Given the description of an element on the screen output the (x, y) to click on. 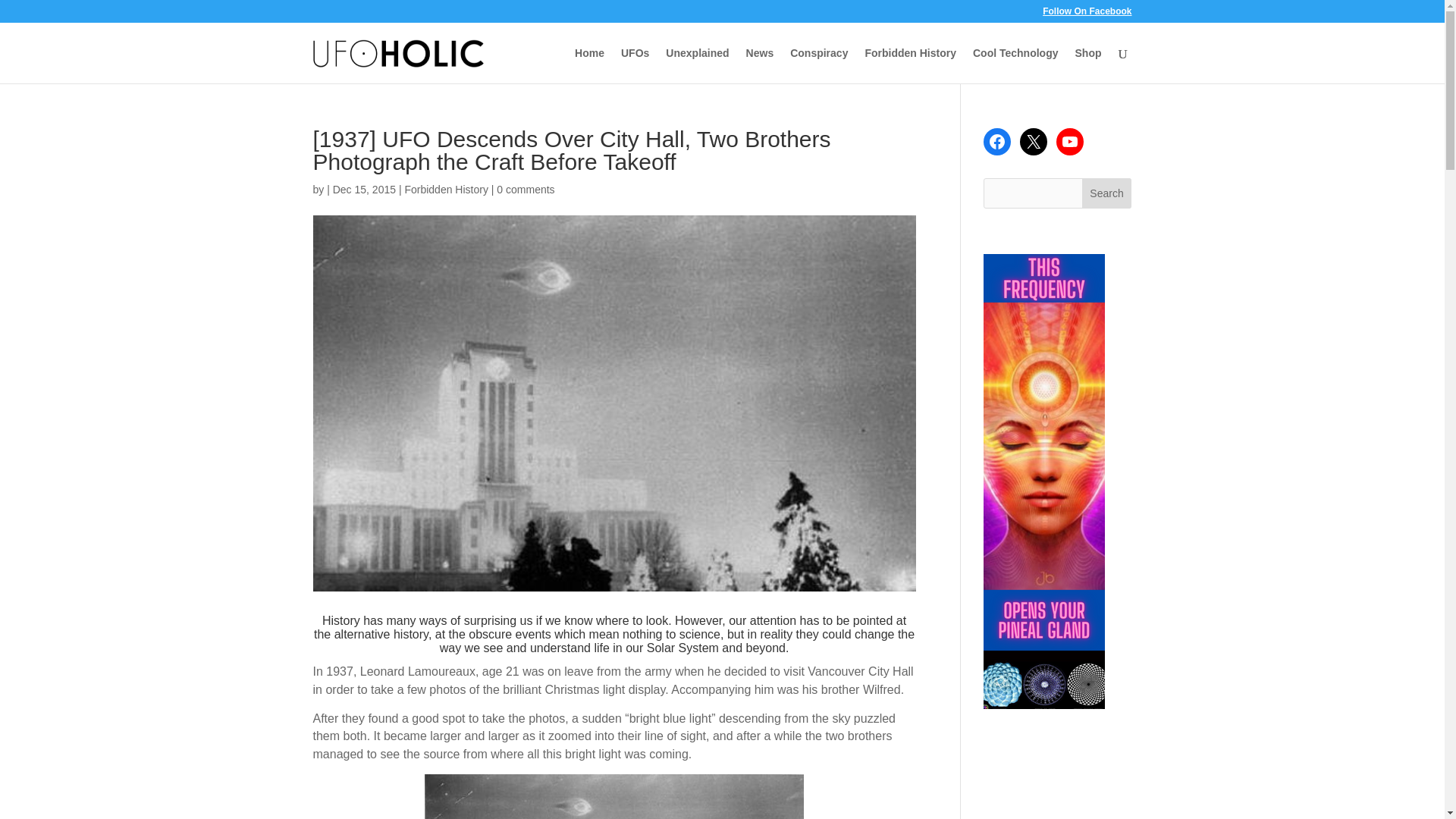
Cool Technology (1015, 65)
Follow On Facebook (1086, 14)
Conspiracy (818, 65)
Shop (1088, 65)
UFOs (635, 65)
Facebook (997, 141)
Home (589, 65)
Search (1106, 193)
Forbidden History (445, 189)
YouTube (1070, 141)
X (1033, 141)
Forbidden History (910, 65)
Unexplained (697, 65)
News (759, 65)
Search (1106, 193)
